Given the description of an element on the screen output the (x, y) to click on. 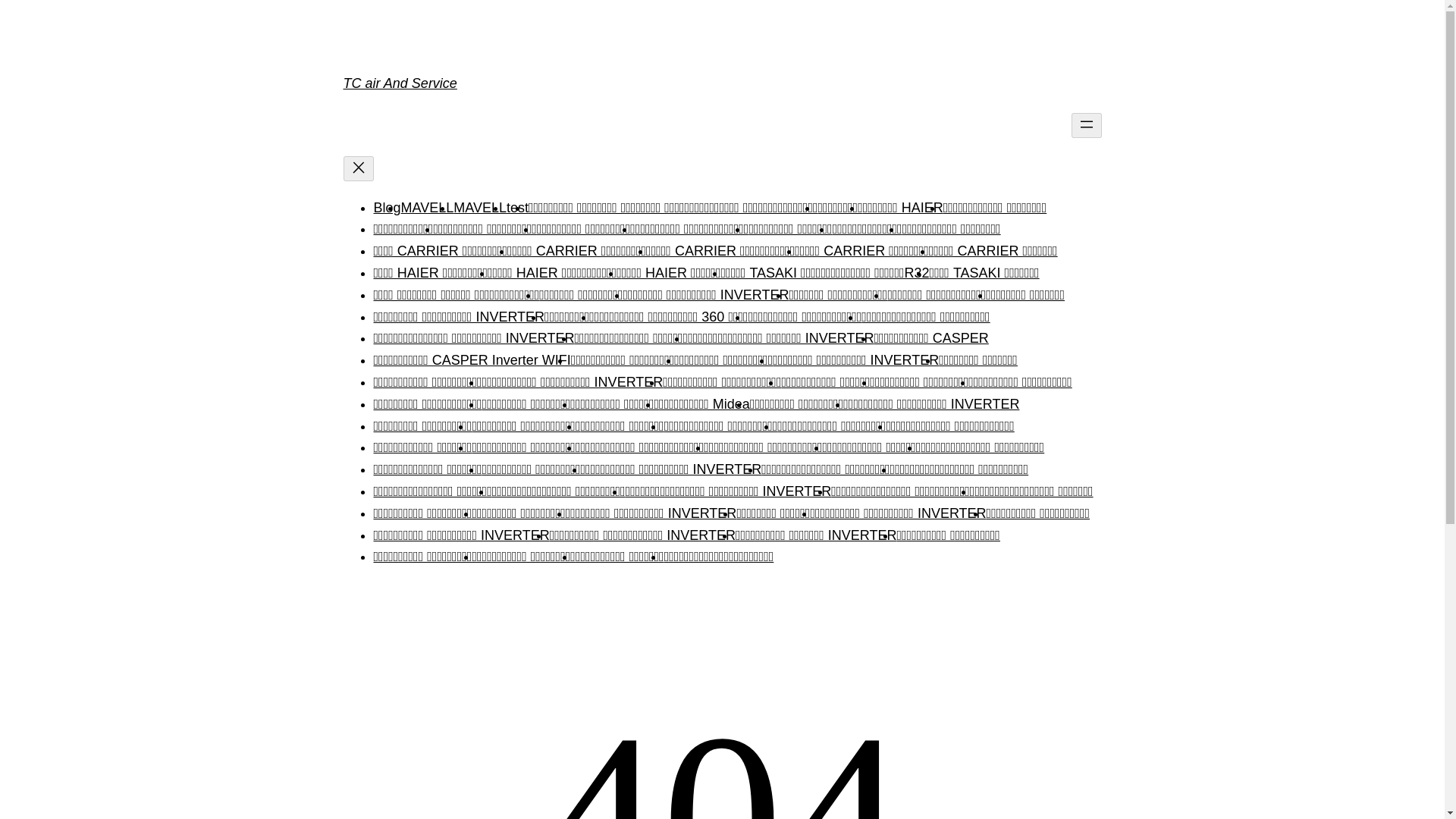
MAVELL (427, 207)
Blog (386, 207)
TC air And Service (399, 83)
test (517, 207)
MAVELL (479, 207)
